Given the description of an element on the screen output the (x, y) to click on. 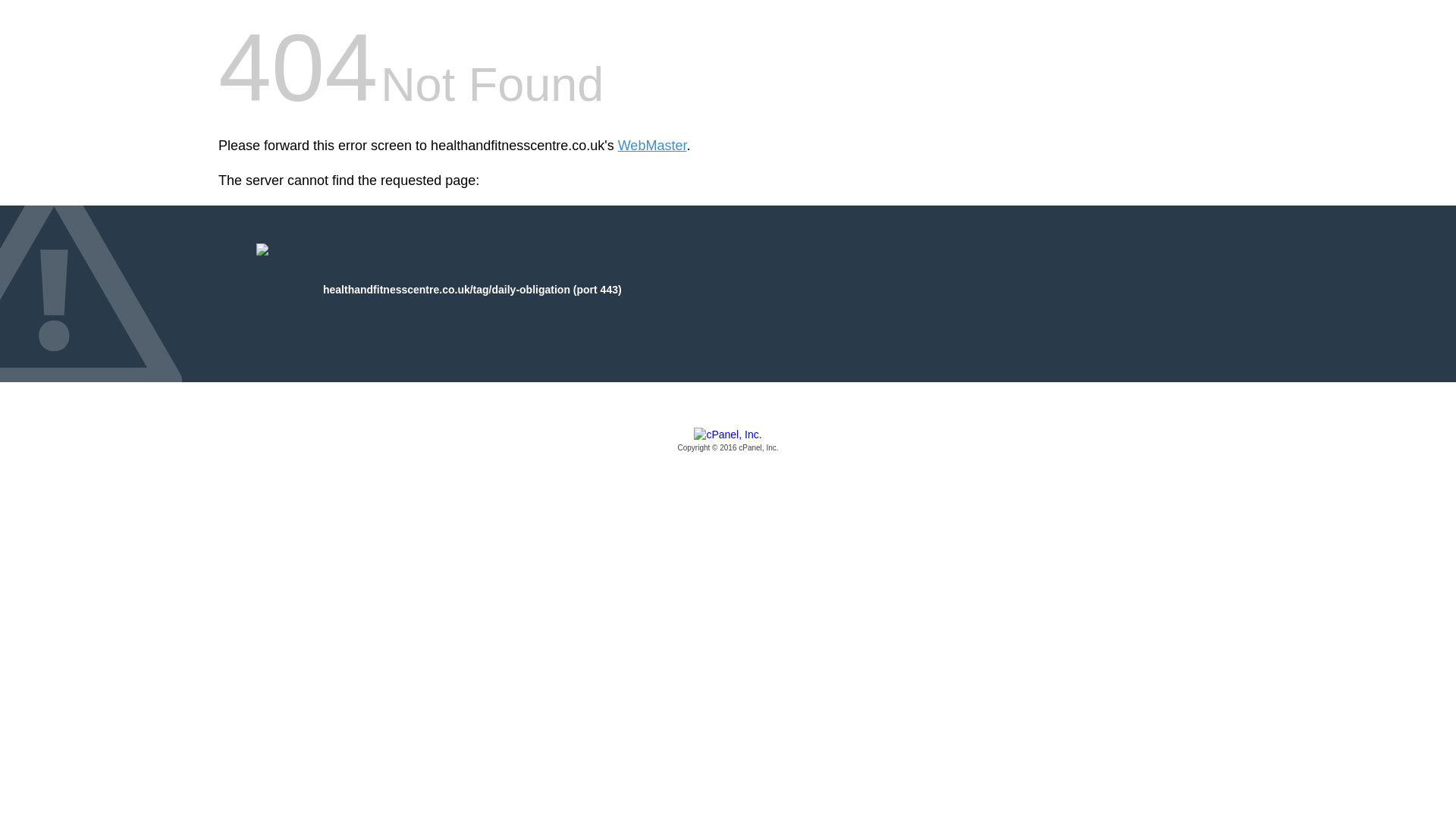
WebMaster (652, 145)
cPanel, Inc. (727, 440)
